Given the description of an element on the screen output the (x, y) to click on. 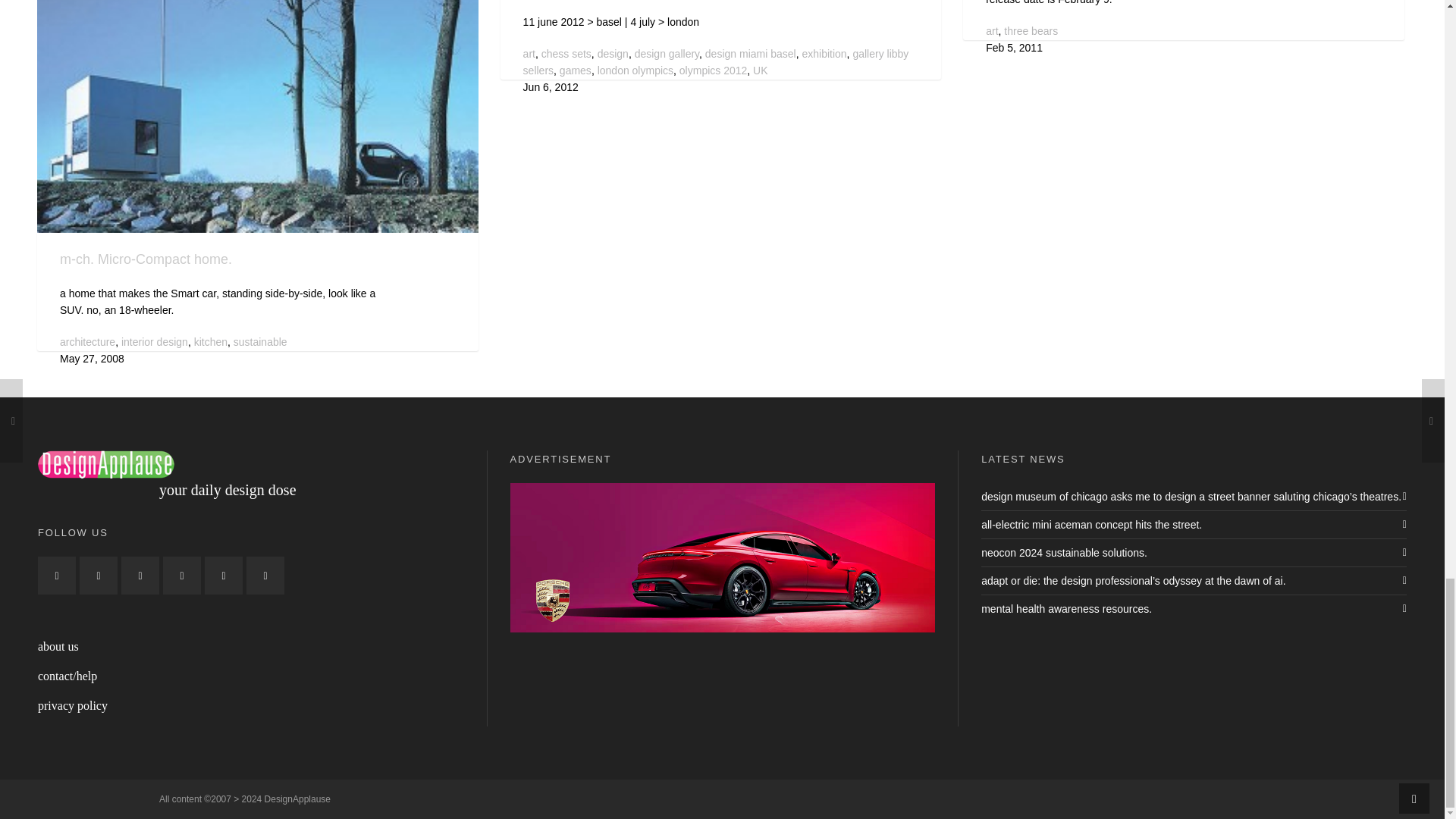
m-ch. Micro-Compact home. (258, 116)
